Given the description of an element on the screen output the (x, y) to click on. 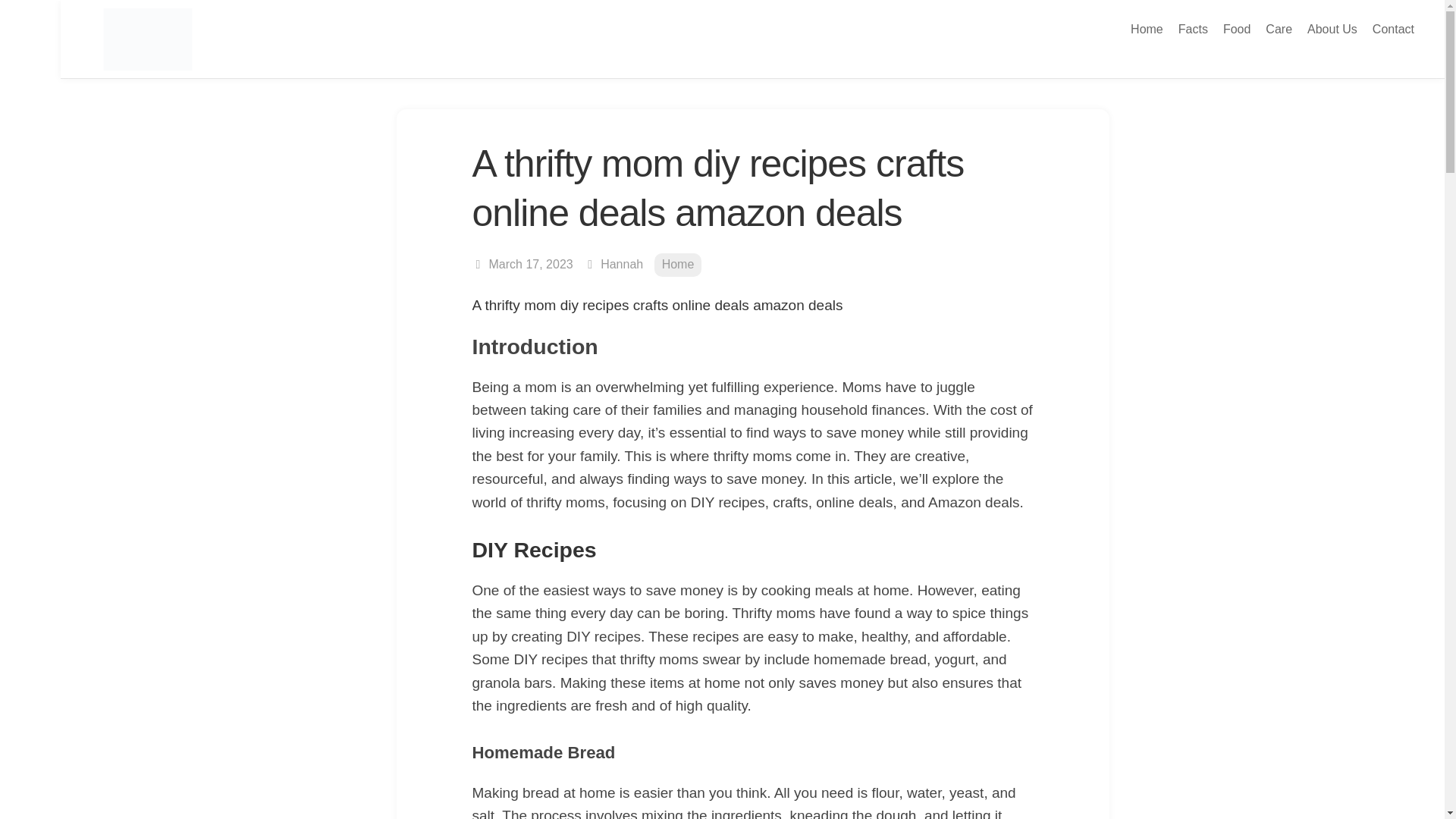
About Us (1331, 29)
Hannah (621, 264)
DIY Recipes (533, 549)
Posts by Hannah (621, 264)
Contact (1393, 29)
Food (1236, 29)
Facts (1192, 29)
Care (1278, 29)
Home (1147, 29)
Home (677, 264)
